Given the description of an element on the screen output the (x, y) to click on. 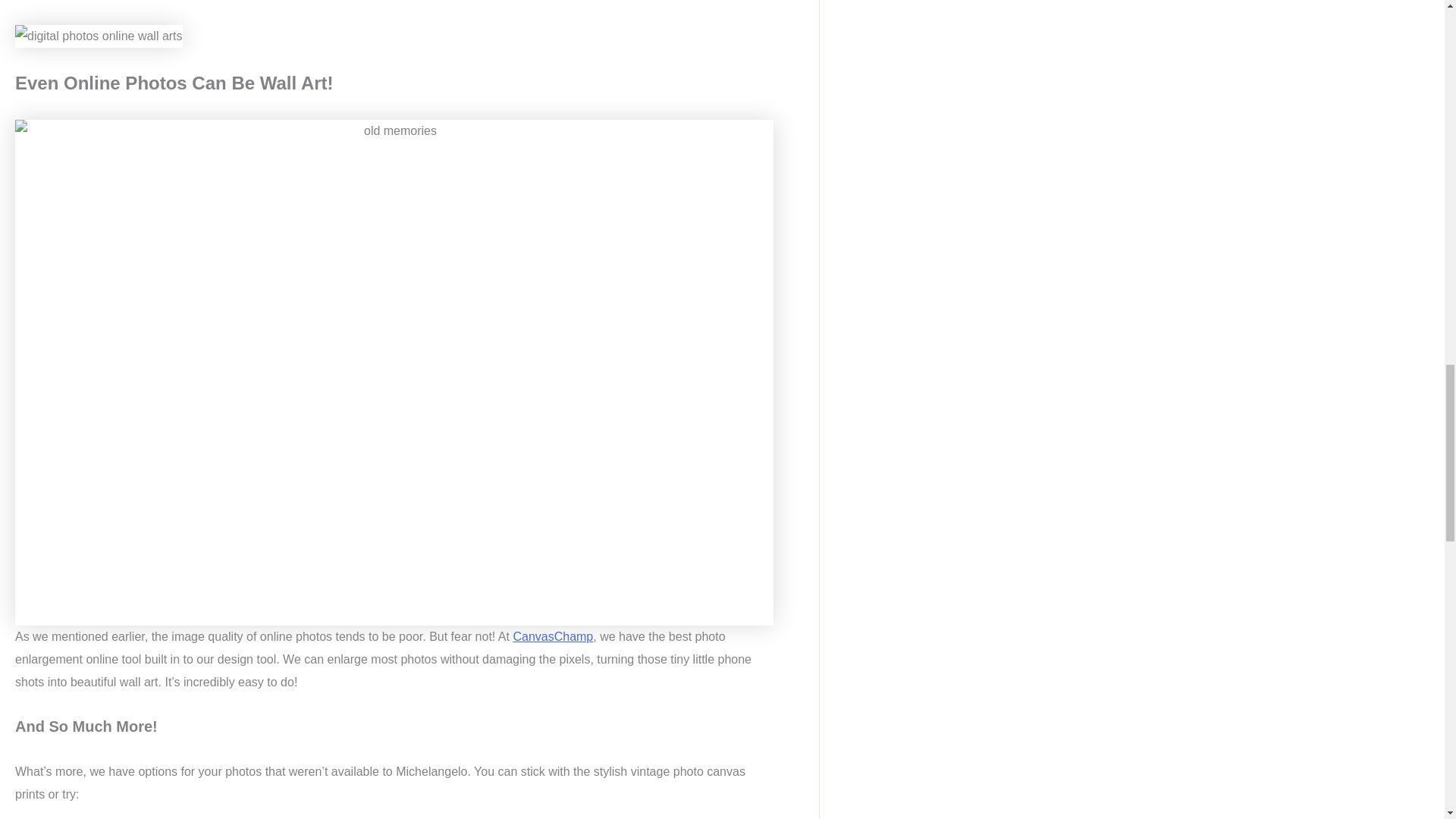
CanvasChamp (552, 635)
